Given the description of an element on the screen output the (x, y) to click on. 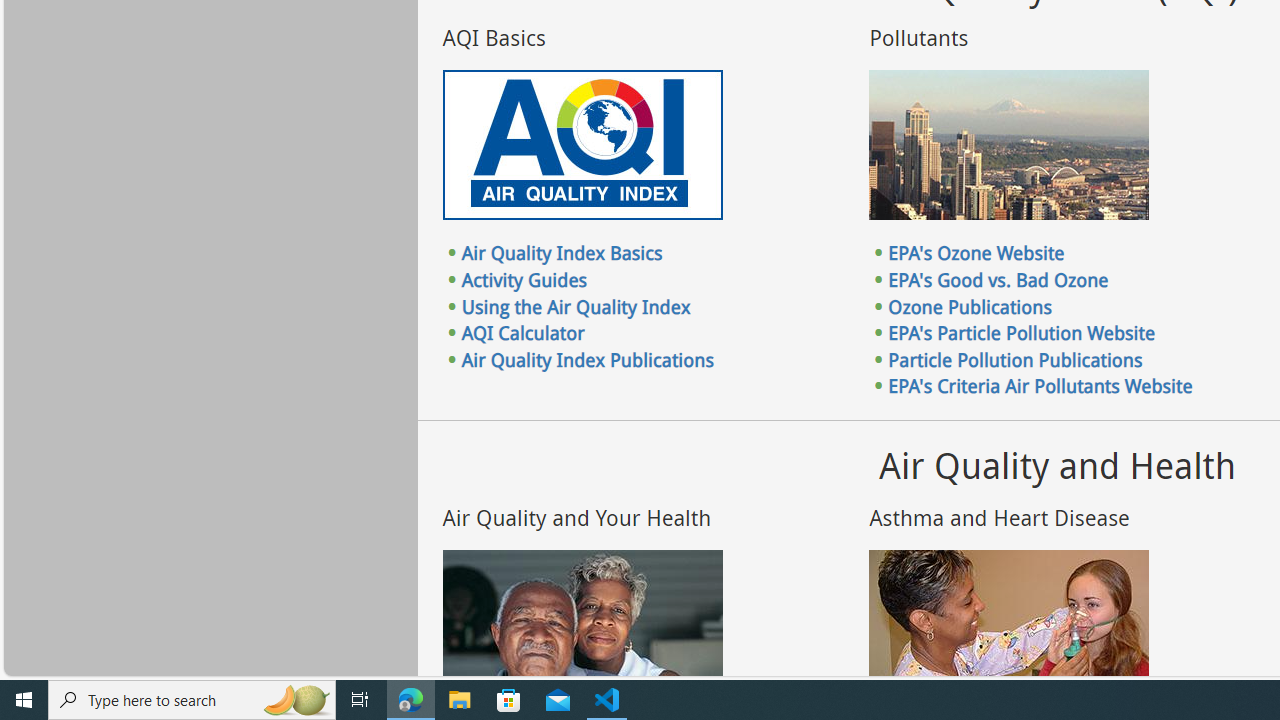
Activity Guides (523, 279)
Air Quality and Your Health (582, 623)
Air Quality and Your Health (582, 623)
Asthma and Heart Disease (1009, 623)
Air Quality Index Publications (587, 359)
Pollutants (1009, 145)
AQI logo (582, 145)
EPA's Ozone Website (976, 253)
Pollutants (1009, 145)
AQI logo (582, 145)
